Given the description of an element on the screen output the (x, y) to click on. 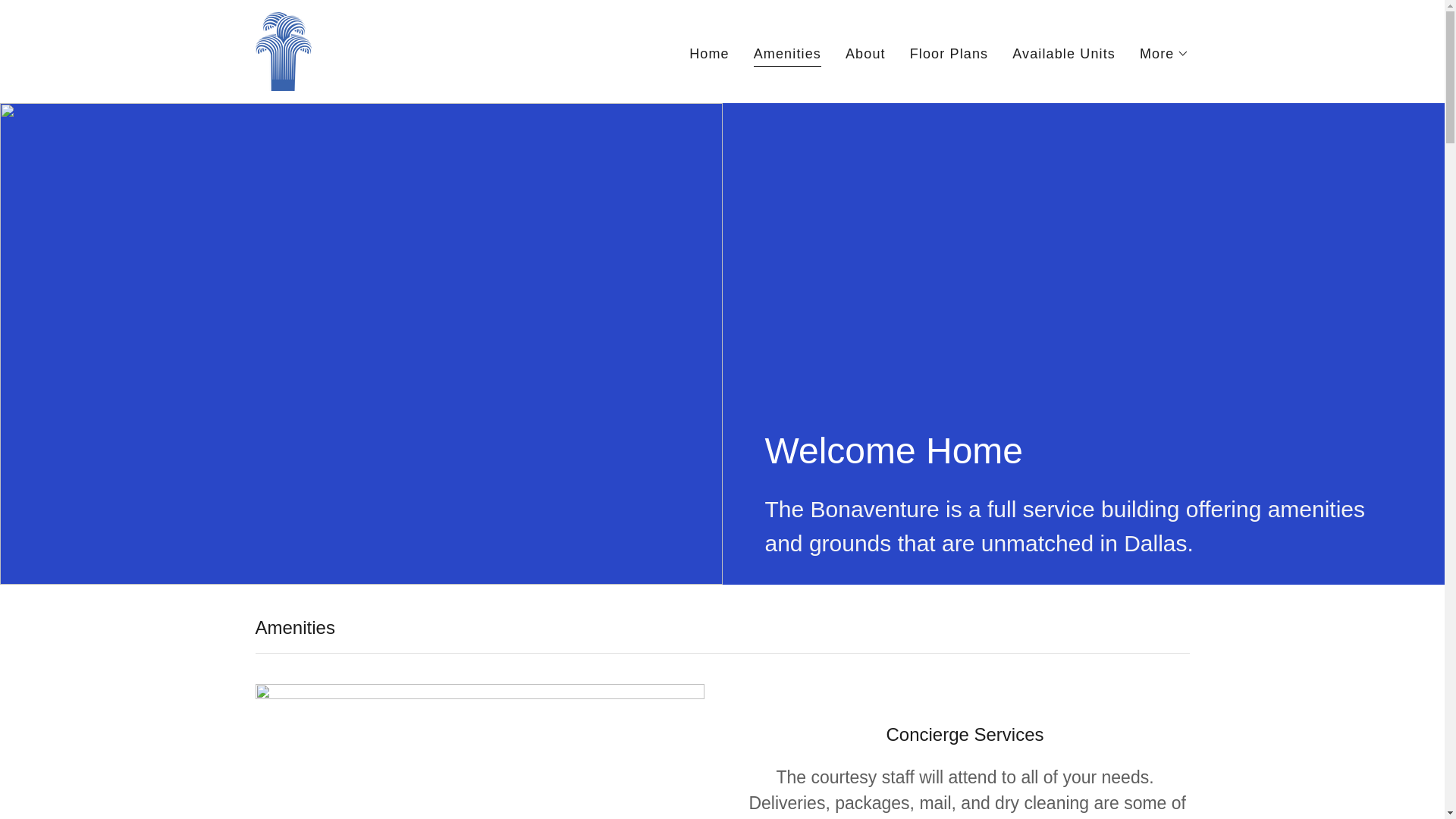
Amenities (787, 55)
Available Units (1063, 52)
About (865, 52)
Home (708, 52)
More (1164, 53)
Floor Plans (948, 52)
